Given the description of an element on the screen output the (x, y) to click on. 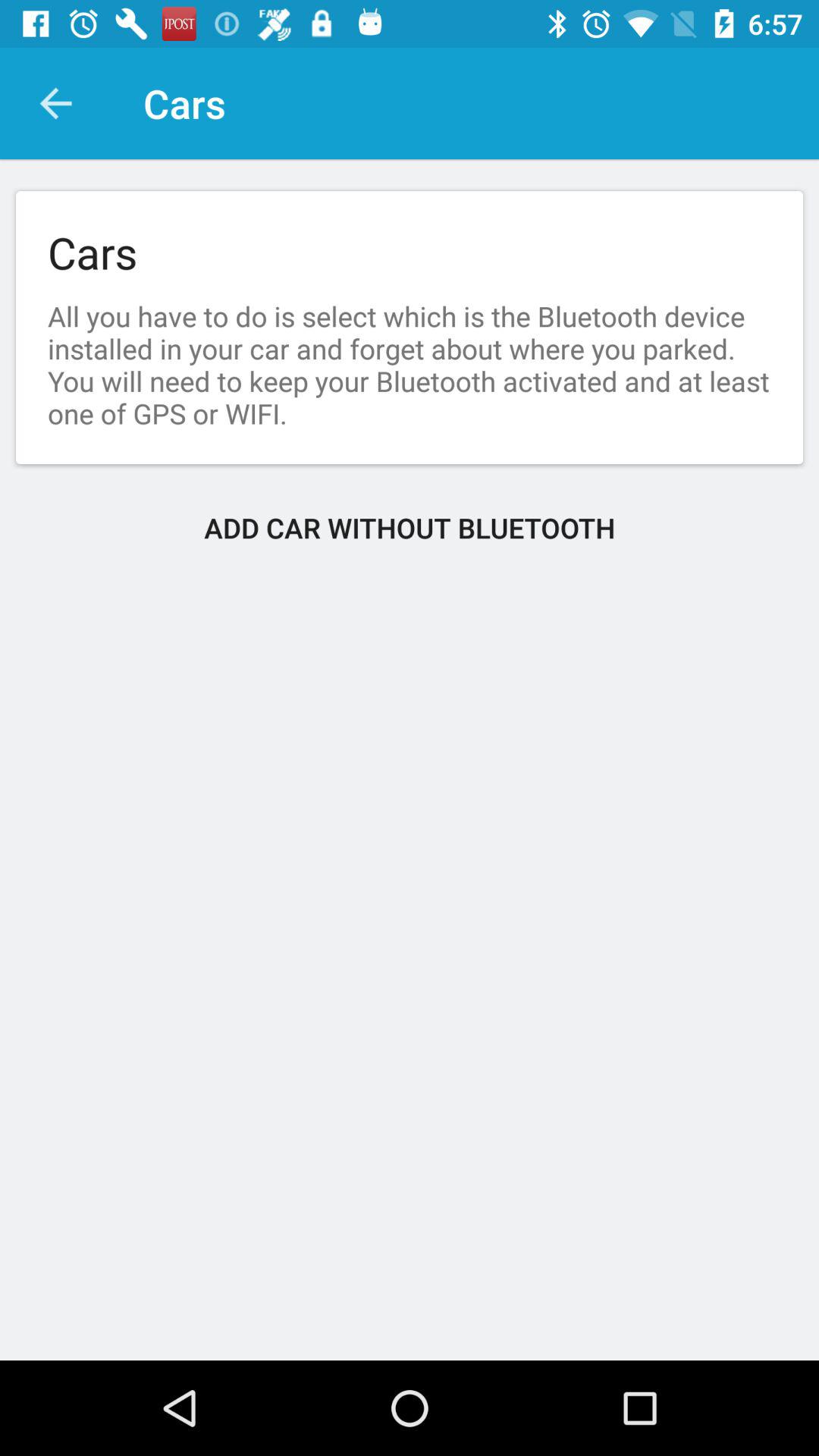
turn off the item below all you have (409, 527)
